Given the description of an element on the screen output the (x, y) to click on. 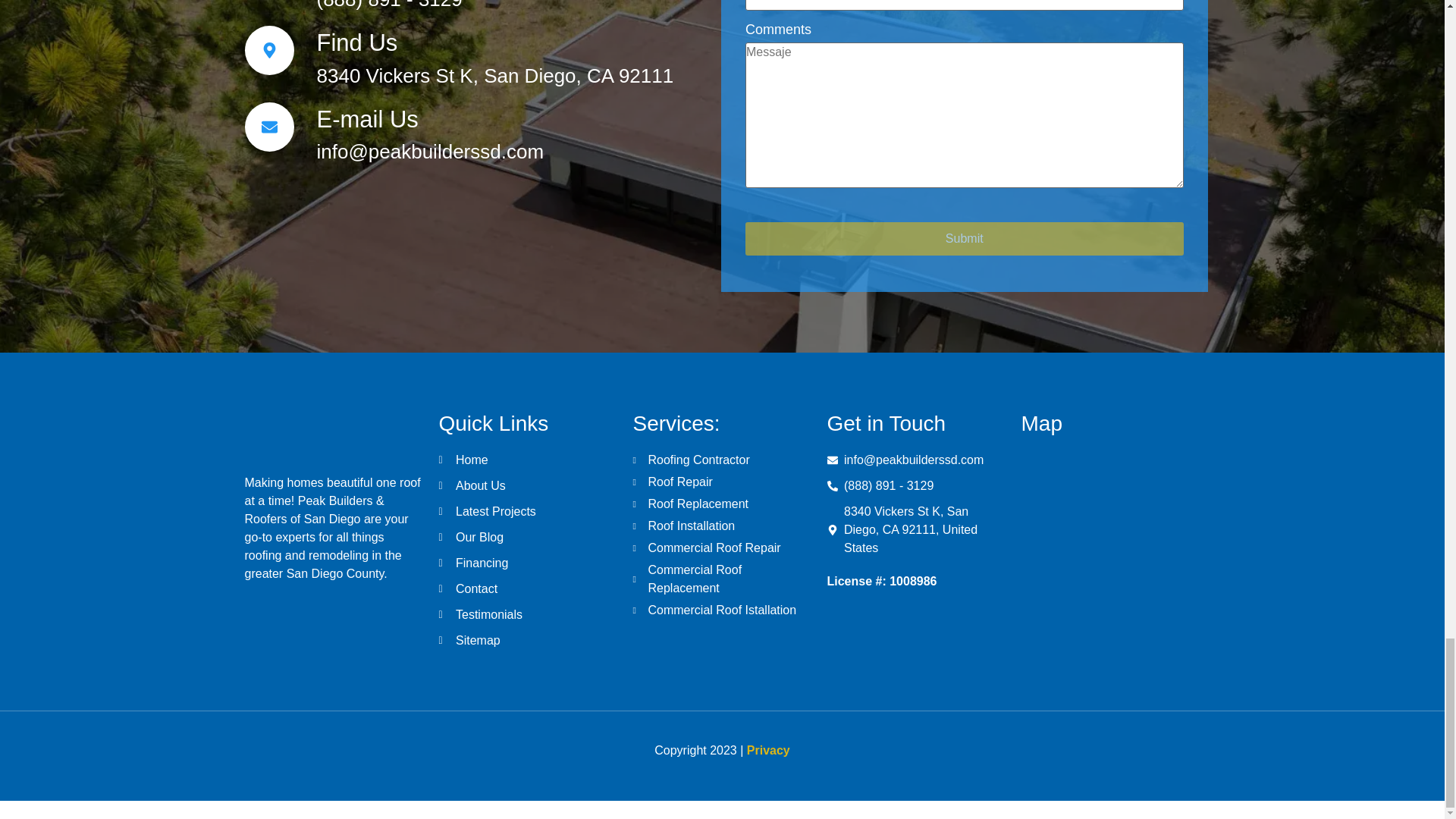
Submit (964, 238)
